Given the description of an element on the screen output the (x, y) to click on. 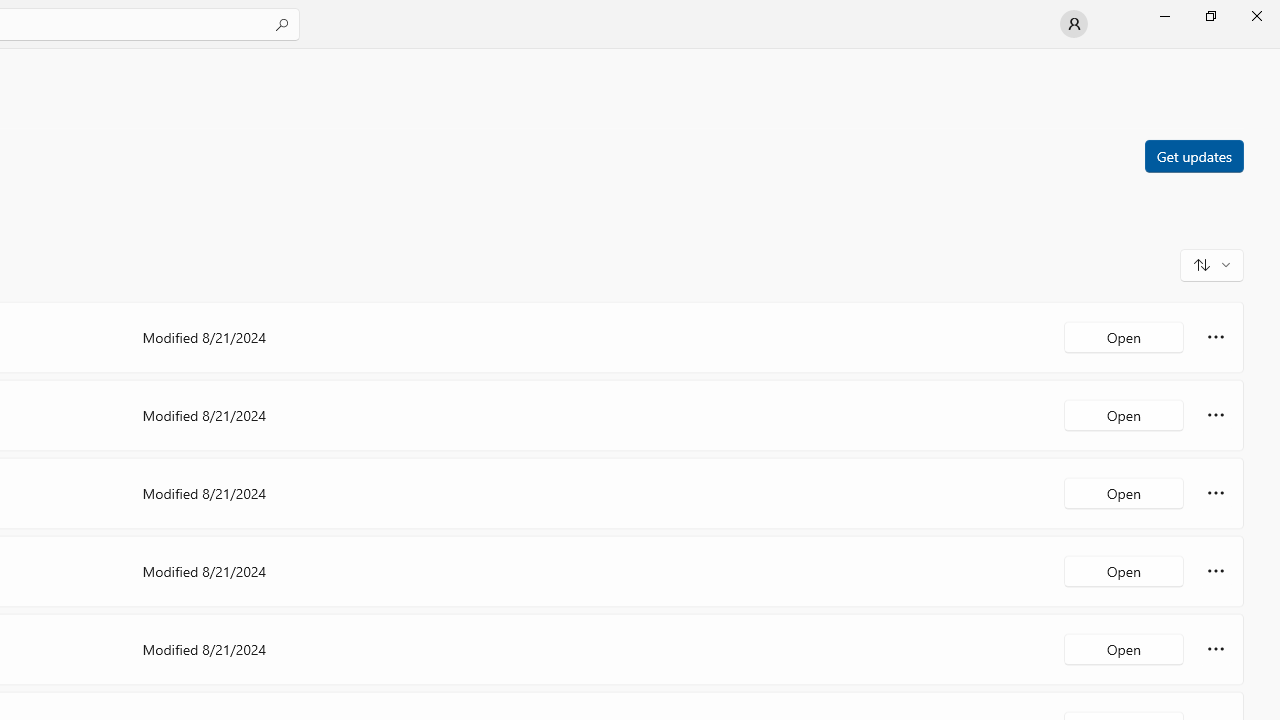
Restore Microsoft Store (1210, 15)
User profile (1073, 24)
More options (1215, 648)
Sort and filter (1212, 263)
Minimize Microsoft Store (1164, 15)
Get updates (1193, 155)
Open (1123, 648)
Close Microsoft Store (1256, 15)
